Given the description of an element on the screen output the (x, y) to click on. 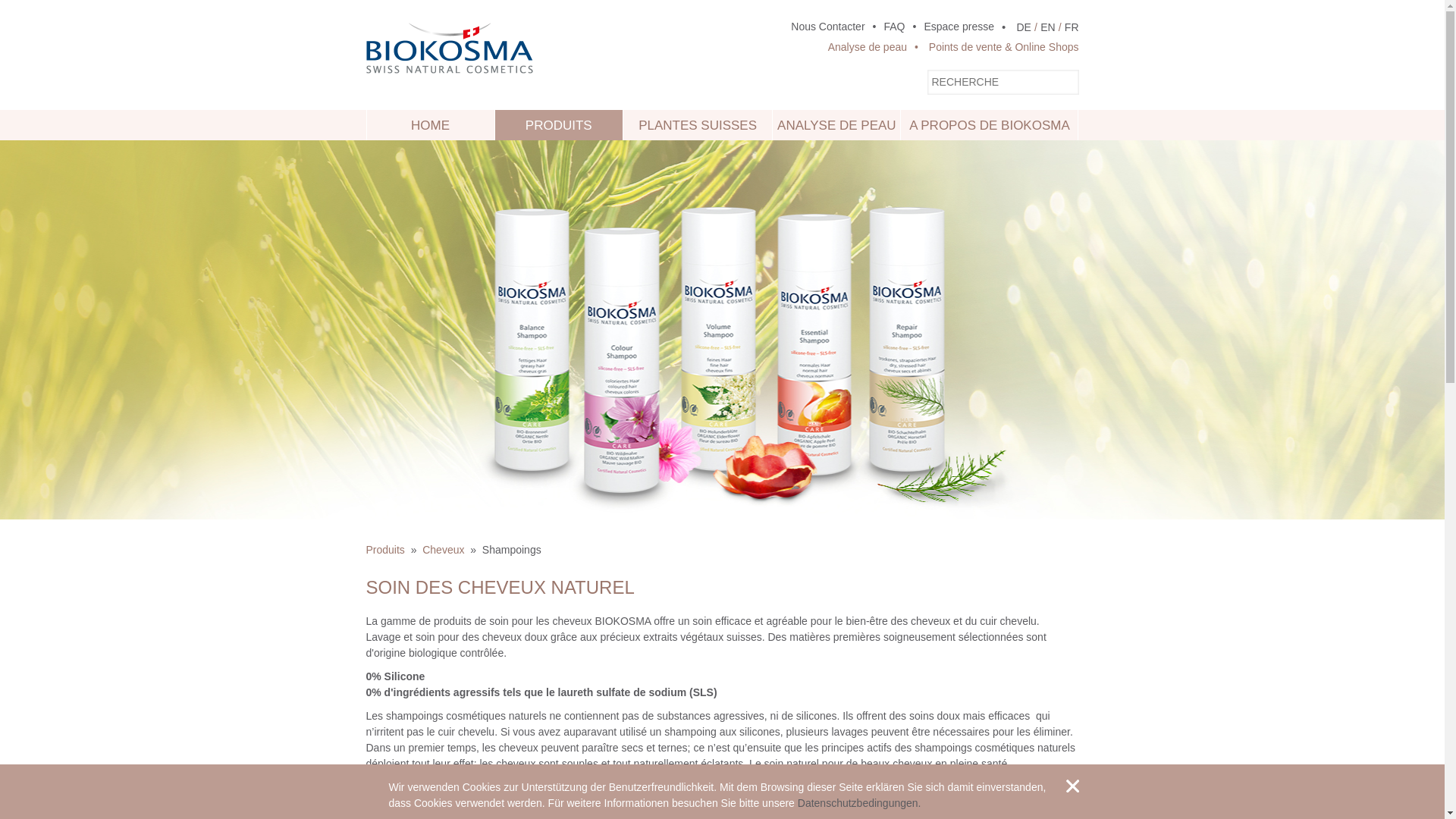
ANALYSE DE PEAU Element type: text (836, 124)
Nous Contacter Element type: text (827, 26)
FR Element type: text (1071, 27)
PRODUITS Element type: text (558, 124)
HOME Element type: text (430, 124)
Datenschutzbedingungen. Element type: text (859, 803)
Cheveux Element type: text (443, 549)
Analyse de peau Element type: text (867, 46)
Points de vente & Online Shops Element type: text (992, 46)
A PROPOS DE BIOKOSMA Element type: text (988, 124)
Produits Element type: text (384, 549)
EN Element type: text (1047, 27)
Espace presse Element type: text (949, 26)
DE Element type: text (1023, 27)
  Element type: text (1072, 785)
FAQ Element type: text (885, 26)
PLANTES SUISSES Element type: text (697, 124)
